Given the description of an element on the screen output the (x, y) to click on. 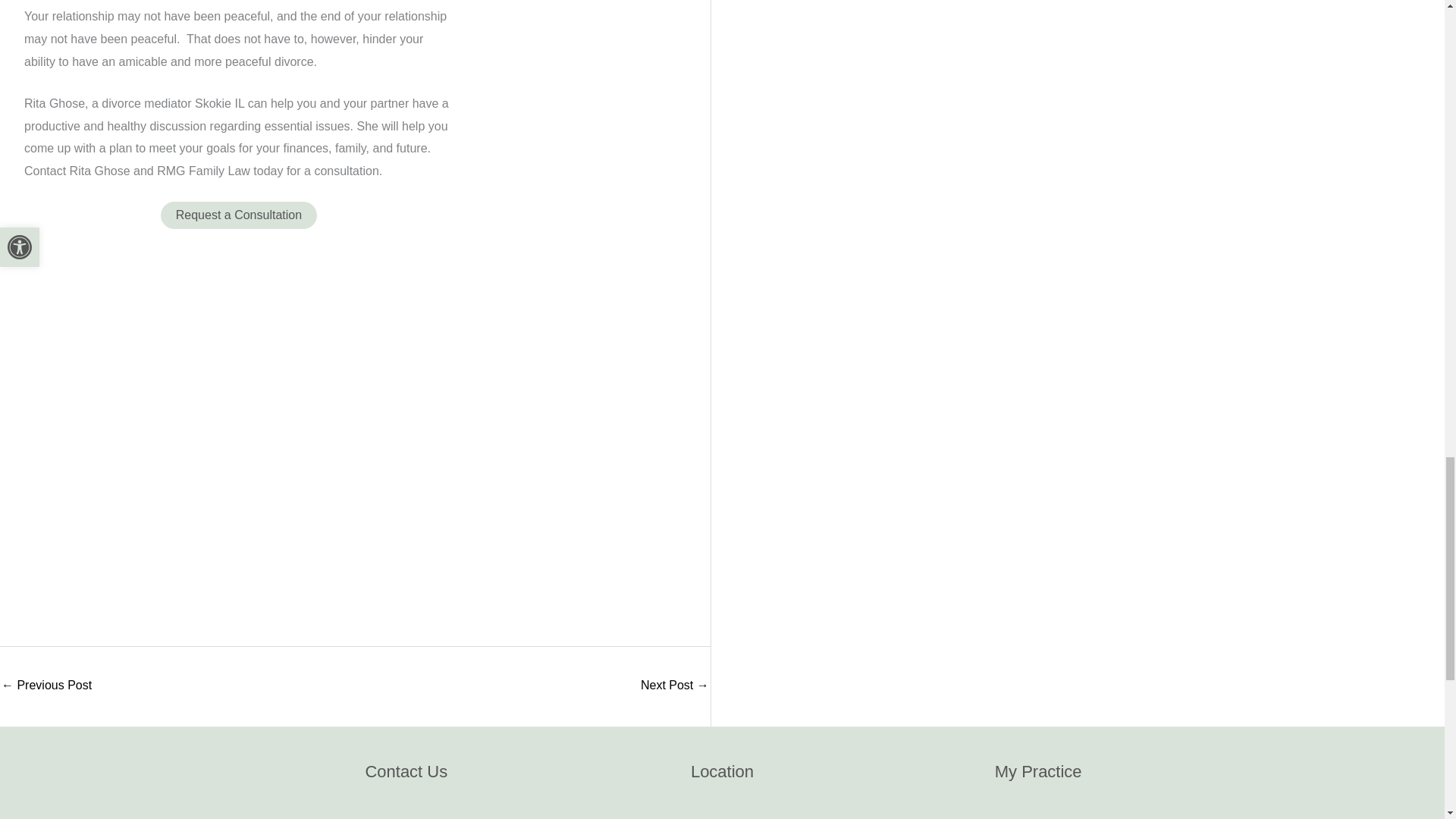
RMG Family Law Wishes You A Happy New Year (46, 686)
